Given the description of an element on the screen output the (x, y) to click on. 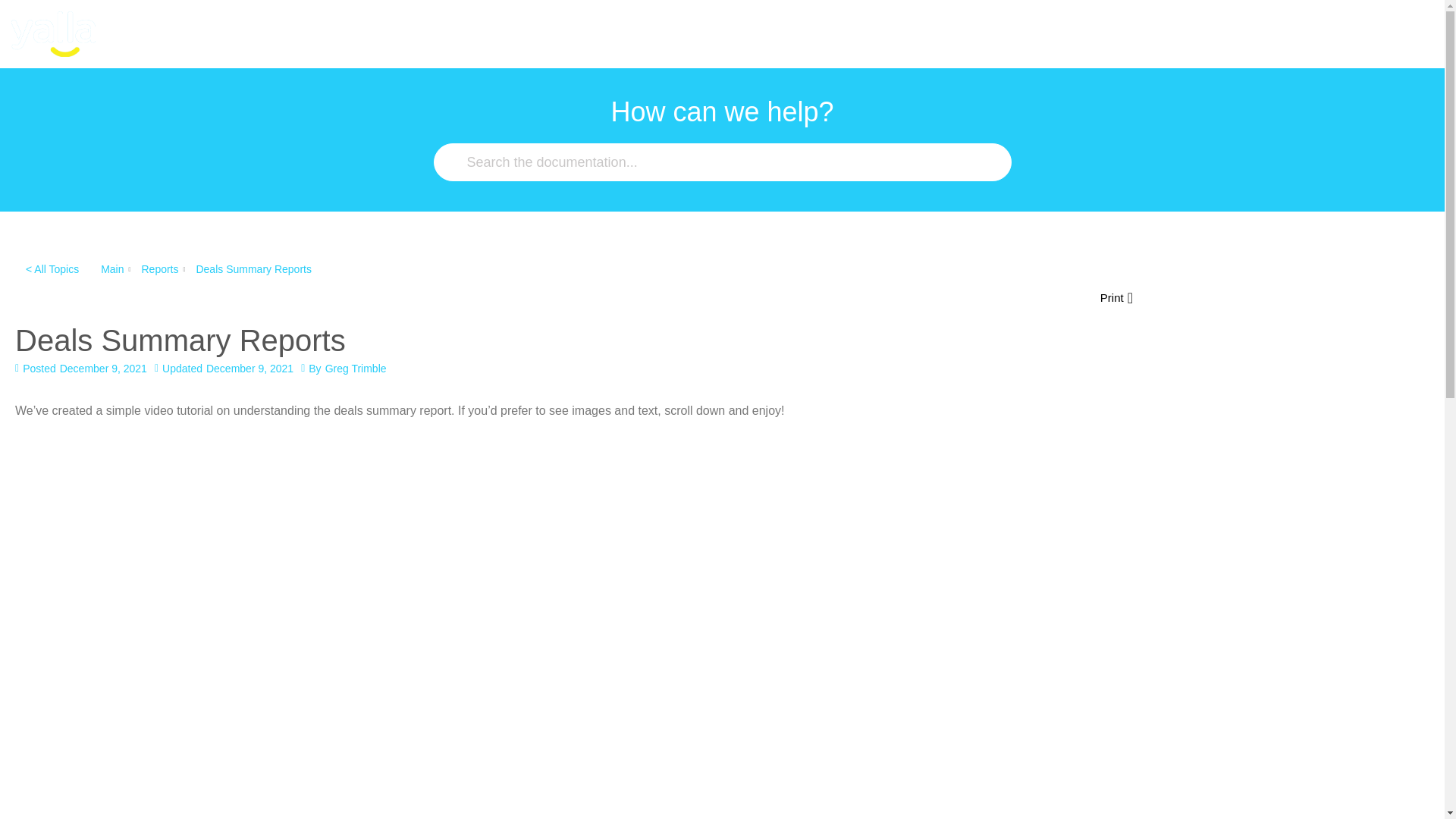
PRICING (209, 33)
Reports (159, 268)
SIGN UP (1391, 33)
LOGIN (1307, 33)
Main (111, 268)
DEMO (274, 33)
TOUR (146, 33)
